Given the description of an element on the screen output the (x, y) to click on. 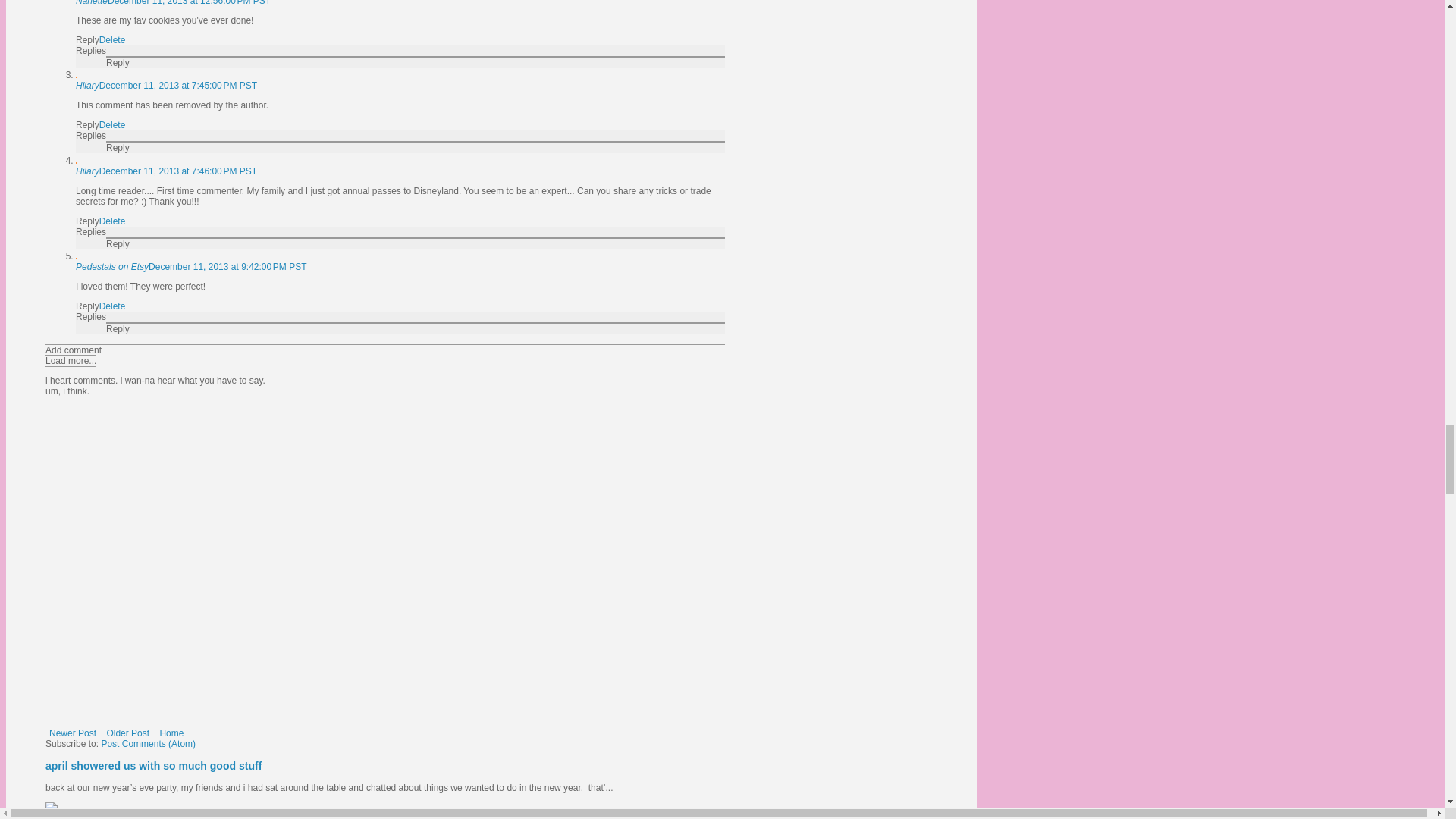
Nanette (91, 2)
Older Post (126, 732)
Reply (117, 62)
Delete (112, 40)
Reply (87, 40)
Hilary (87, 85)
Reply (87, 124)
Newer Post (72, 732)
Delete (112, 124)
Replies (90, 50)
